Given the description of an element on the screen output the (x, y) to click on. 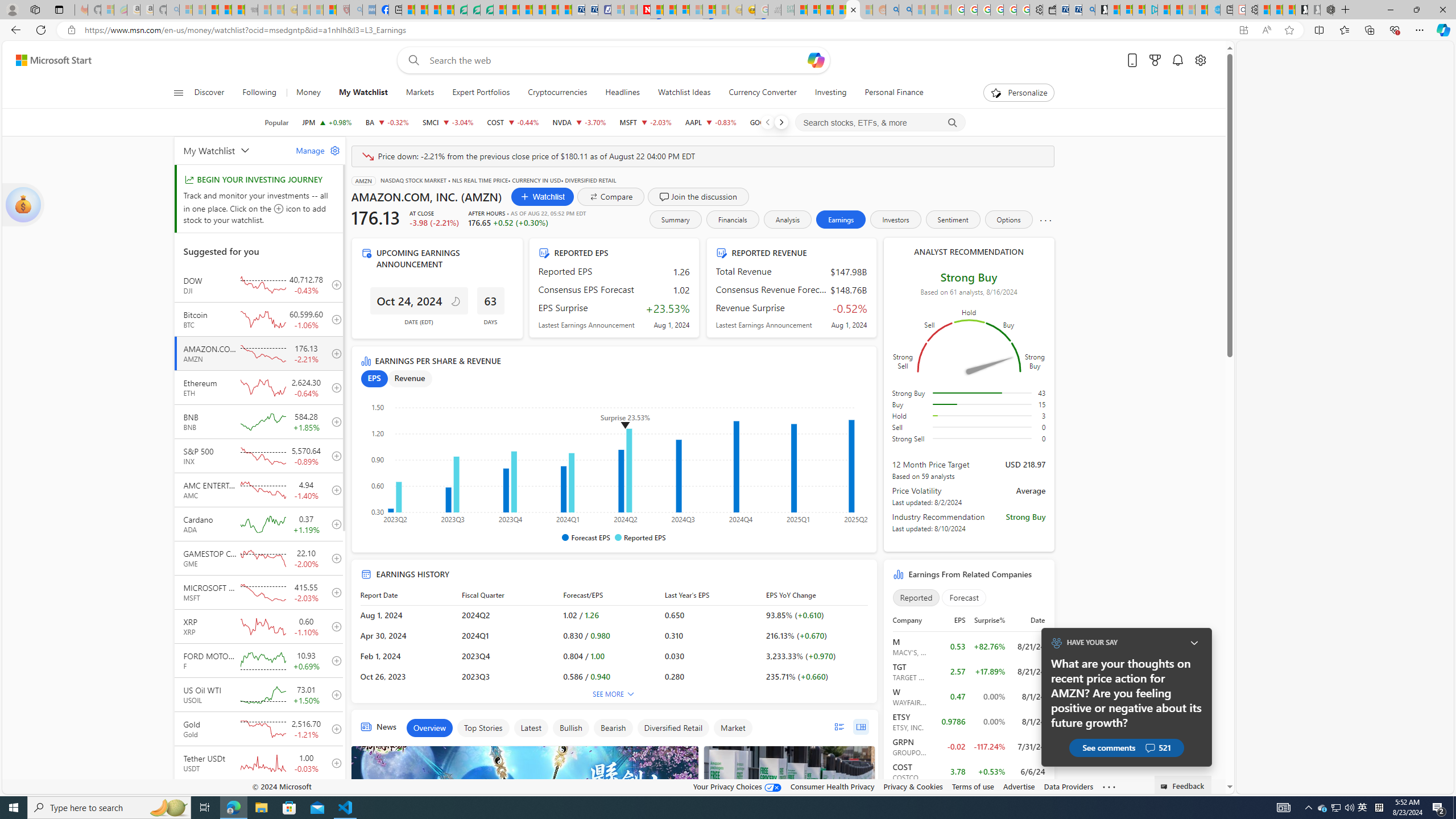
Diversified Retail (673, 728)
Analysis (787, 219)
Popular (276, 121)
Utah sues federal government - Search (905, 9)
Class: button-glyph (178, 92)
AdChoices (689, 752)
